Given the description of an element on the screen output the (x, y) to click on. 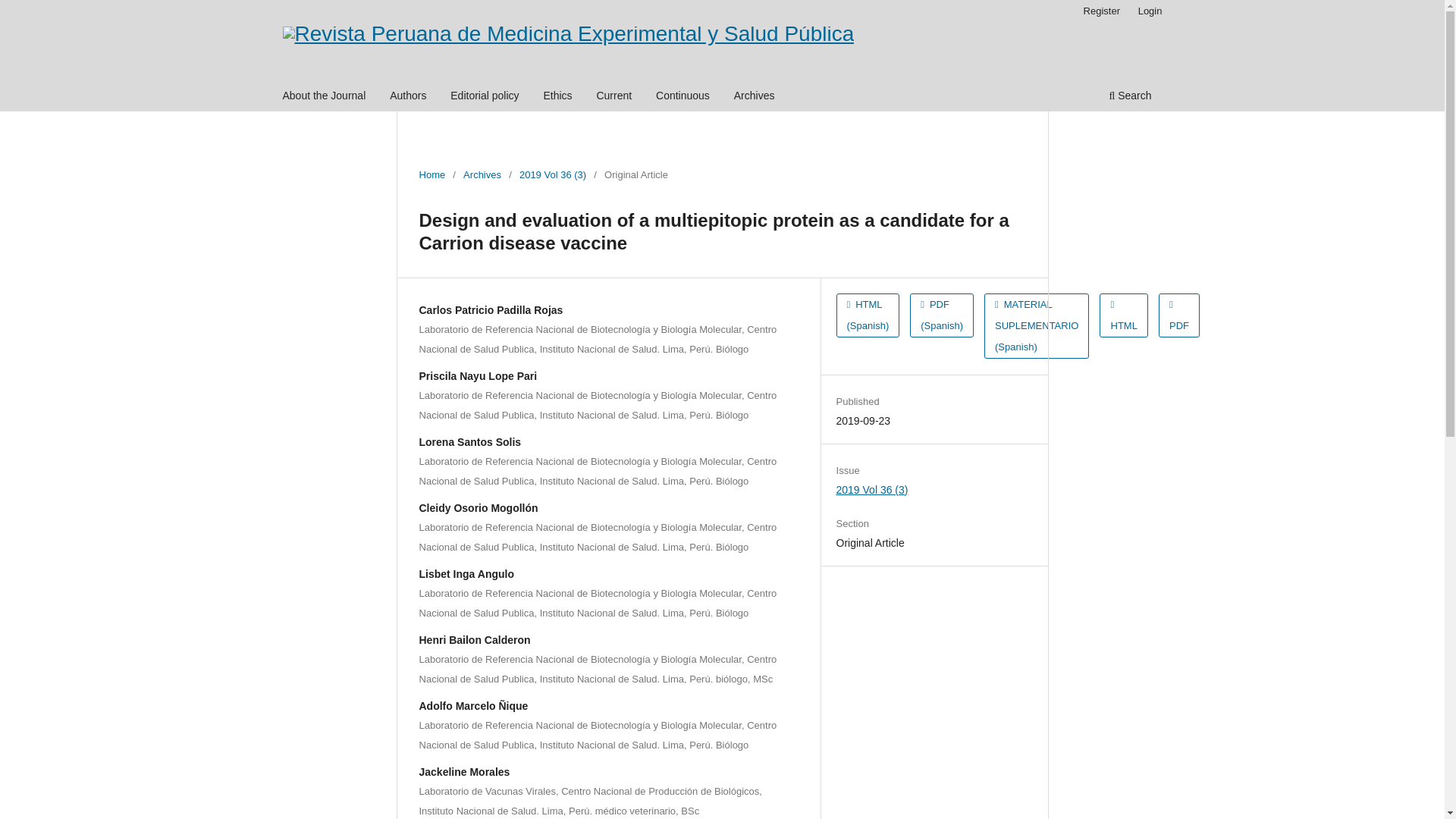
Register (1100, 11)
HTML (1123, 315)
Authors (407, 97)
PDF (1178, 315)
Ethics (556, 97)
Editorial policy (484, 97)
Continuous (682, 97)
About the Journal (324, 97)
Archives (754, 97)
Current (614, 97)
